Given the description of an element on the screen output the (x, y) to click on. 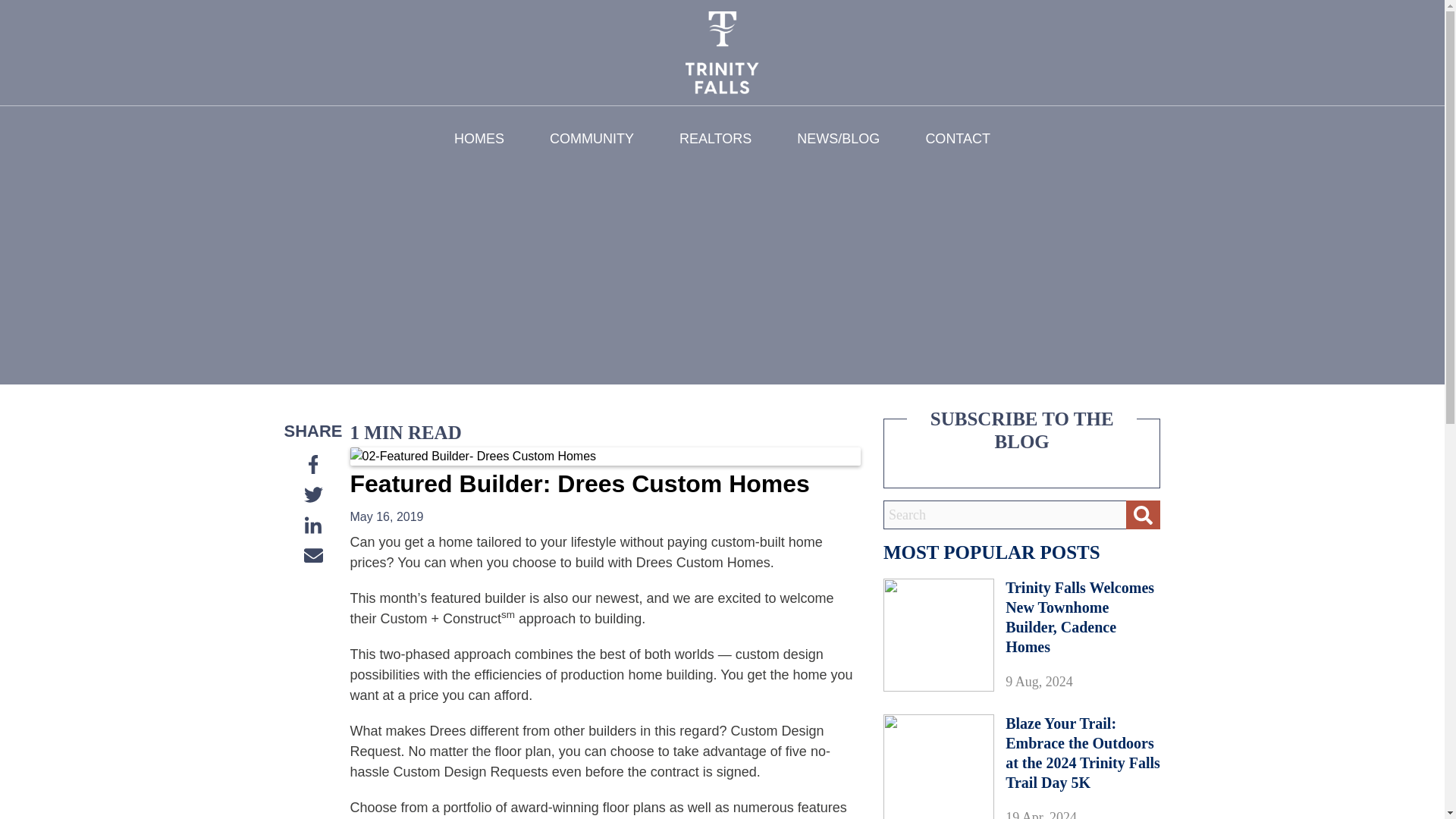
REALTORS (715, 138)
CONTACT (957, 138)
COMMUNITY (591, 138)
HOMES (478, 138)
